Given the description of an element on the screen output the (x, y) to click on. 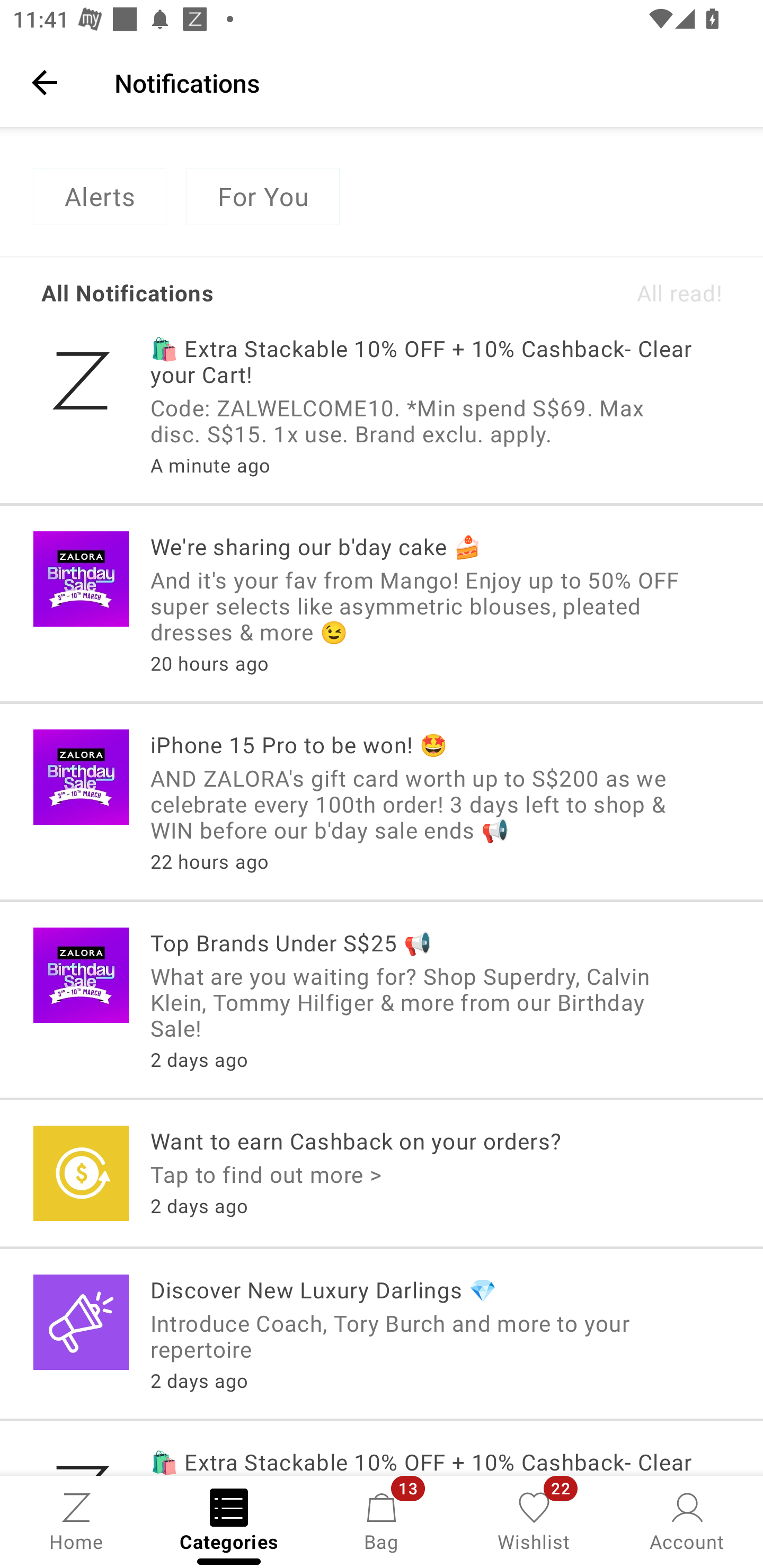
Navigate up (44, 82)
Notifications (426, 82)
Alerts (99, 196)
For You (262, 196)
Home (76, 1519)
Bag, 13 new notifications Bag (381, 1519)
Wishlist, 22 new notifications Wishlist (533, 1519)
Account (686, 1519)
